Given the description of an element on the screen output the (x, y) to click on. 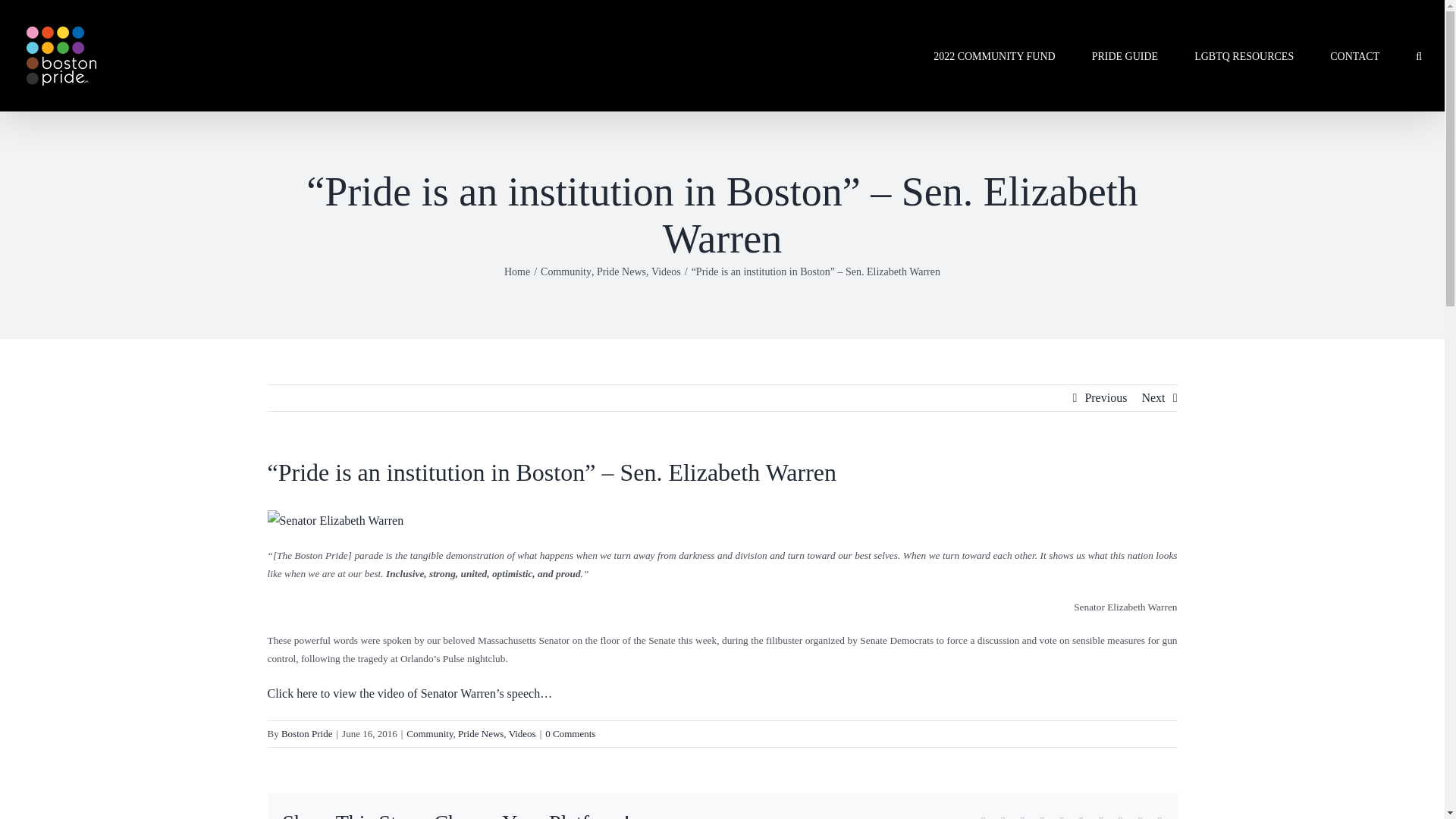
Videos (665, 271)
Posts by Boston Pride (307, 733)
LGBTQ RESOURCES (1243, 55)
Community (565, 271)
Pride News (480, 733)
